Given the description of an element on the screen output the (x, y) to click on. 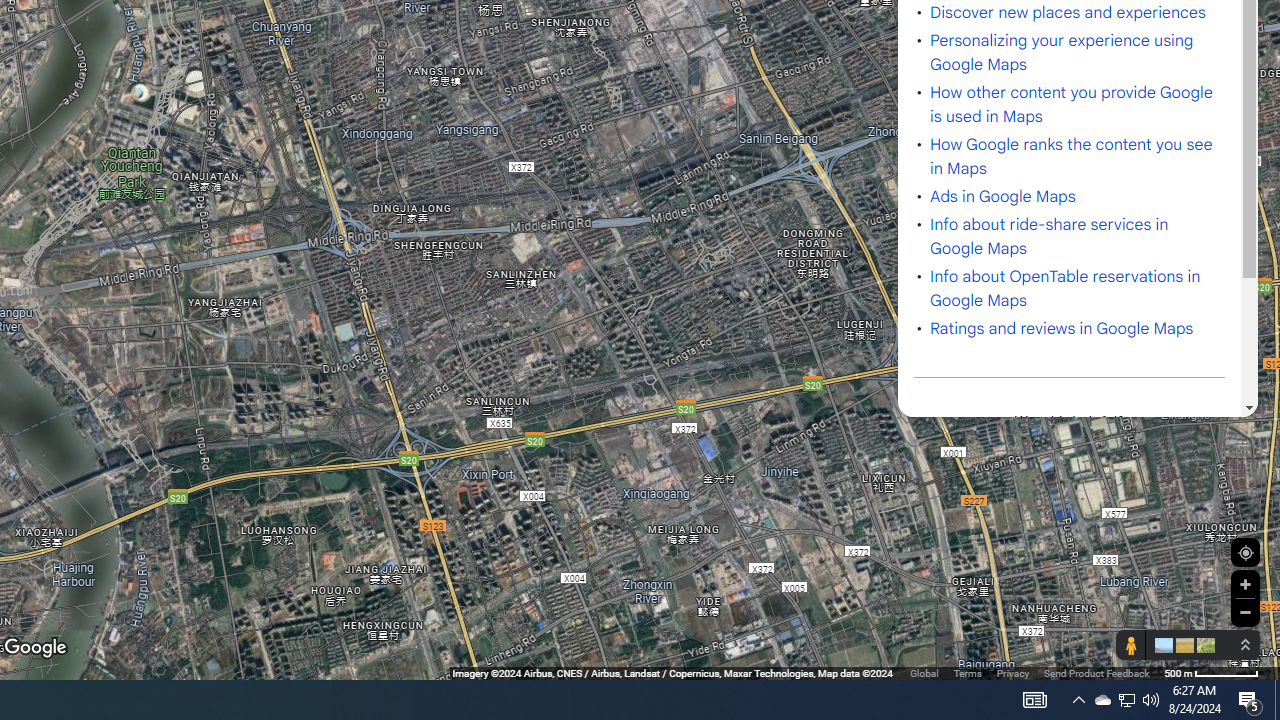
Global (924, 672)
Show Street View coverage (1130, 645)
Send Product Feedback (1096, 672)
